Given the description of an element on the screen output the (x, y) to click on. 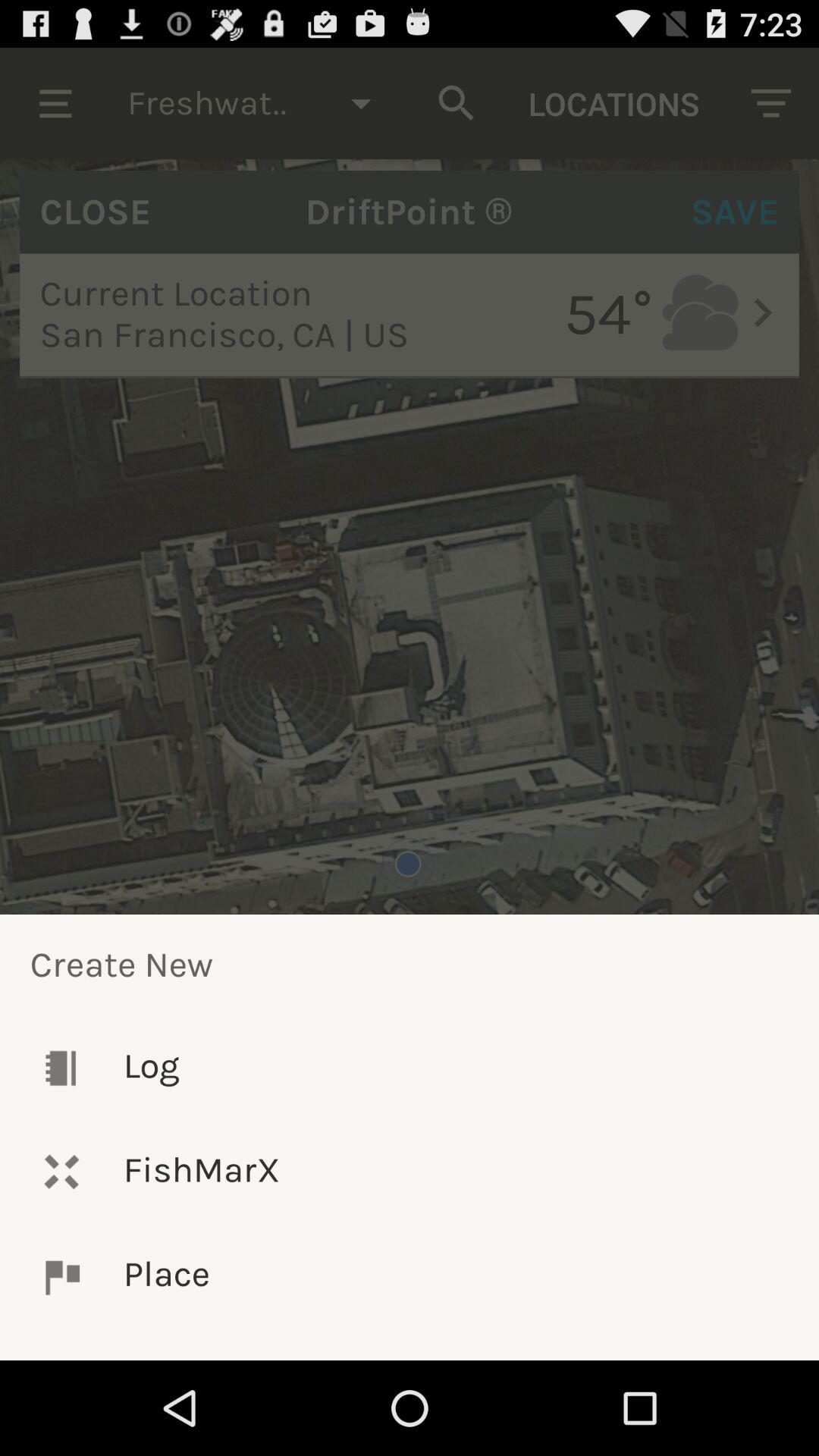
tap the place item (409, 1276)
